Given the description of an element on the screen output the (x, y) to click on. 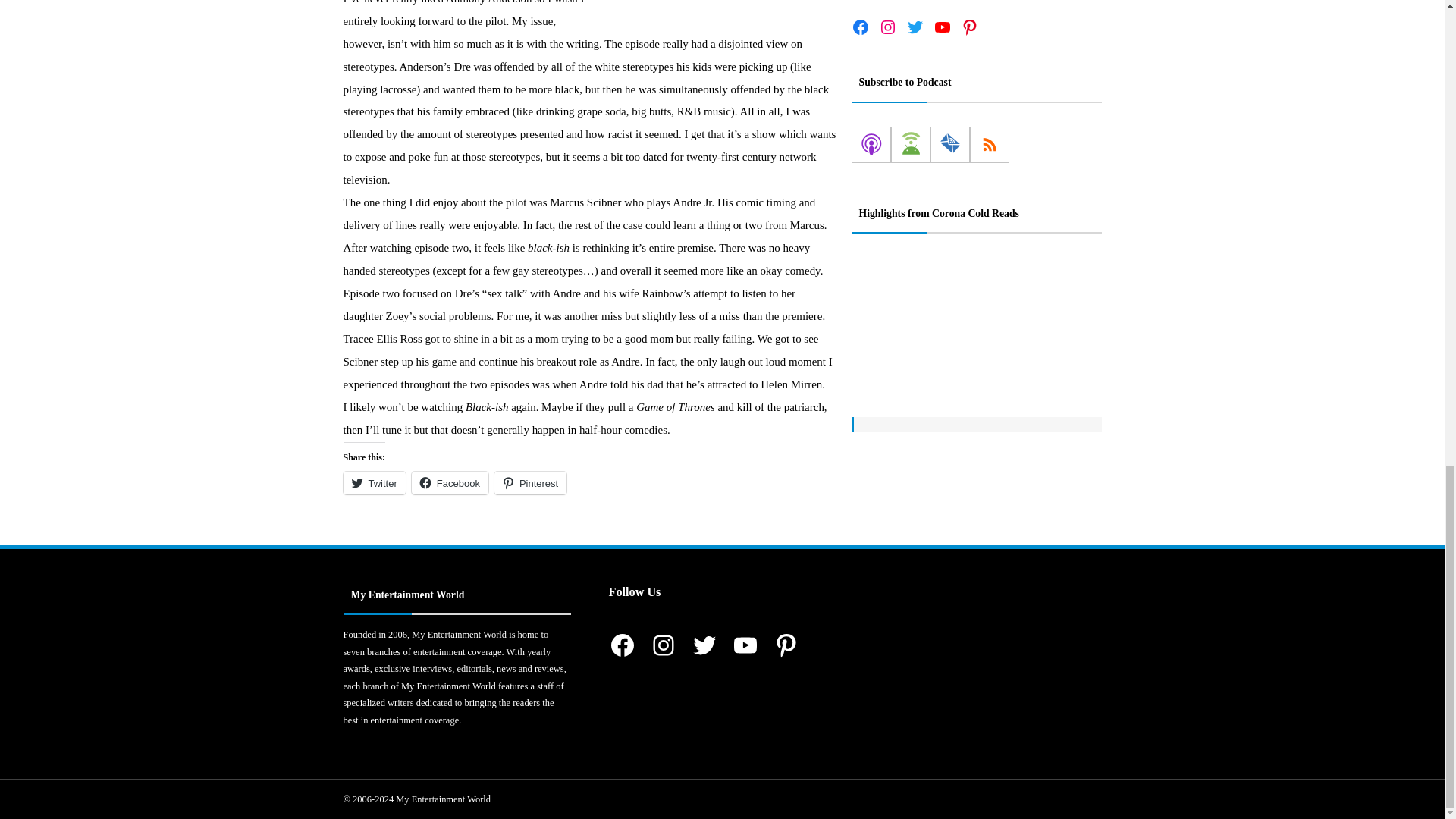
Facebook (449, 482)
Twitter (373, 482)
Pinterest (530, 482)
Click to share on Twitter (373, 482)
Click to share on Facebook (449, 482)
Click to share on Pinterest (530, 482)
